Given the description of an element on the screen output the (x, y) to click on. 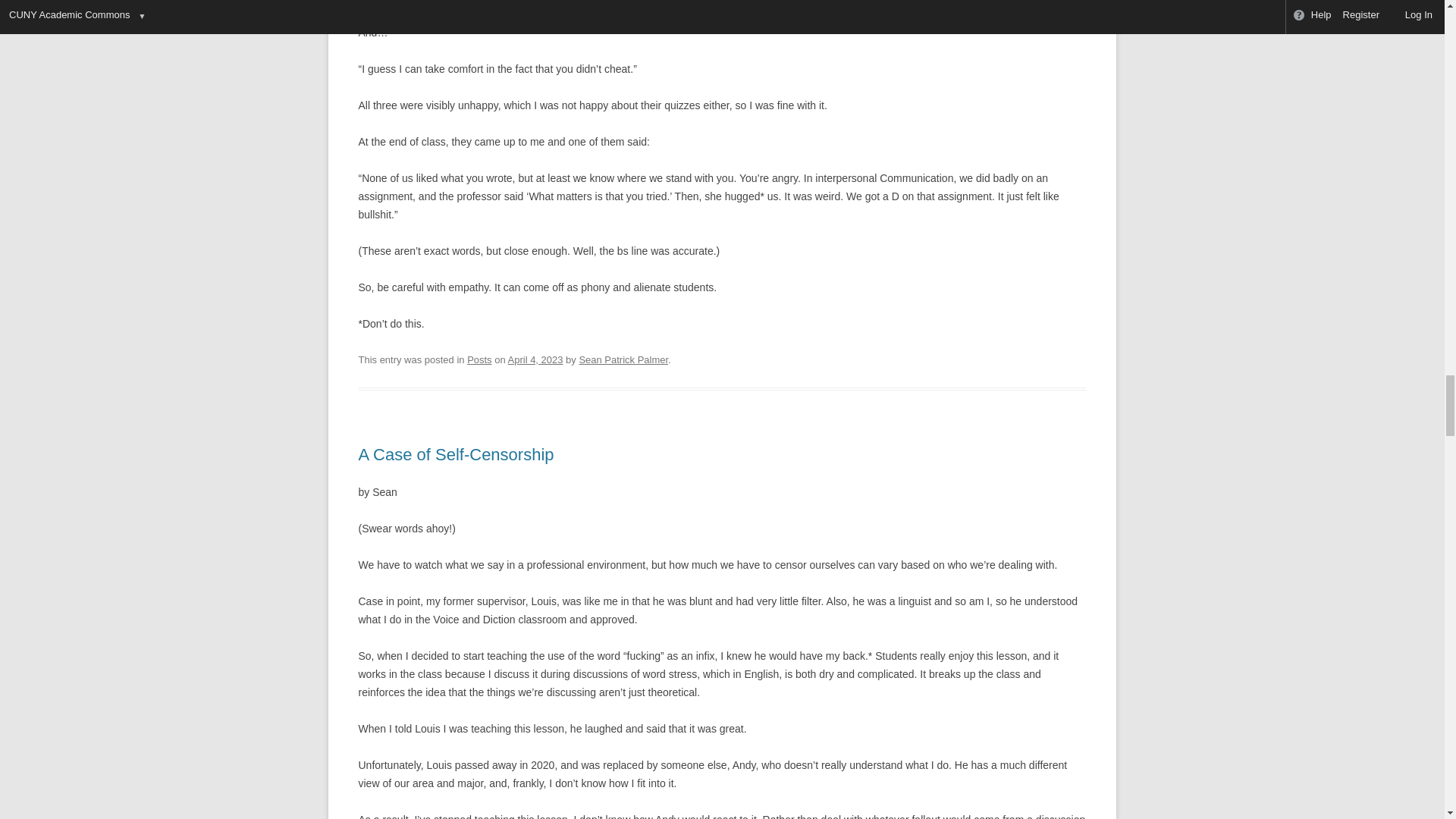
Posts (479, 359)
